Given the description of an element on the screen output the (x, y) to click on. 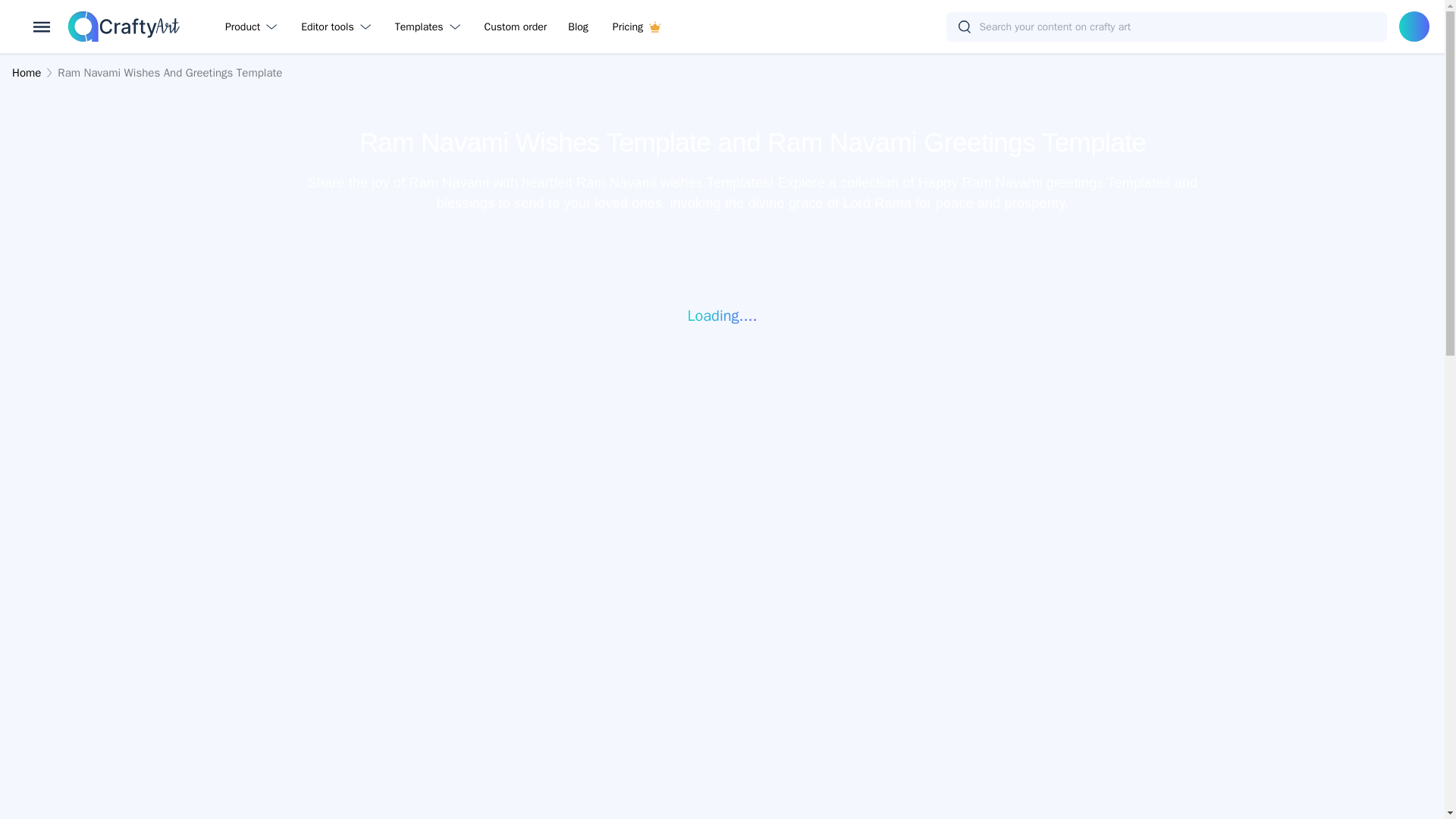
Pricing (635, 26)
Product (253, 26)
Custom order (516, 26)
Templates (430, 26)
Editor tools (338, 26)
Blog (577, 26)
